Given the description of an element on the screen output the (x, y) to click on. 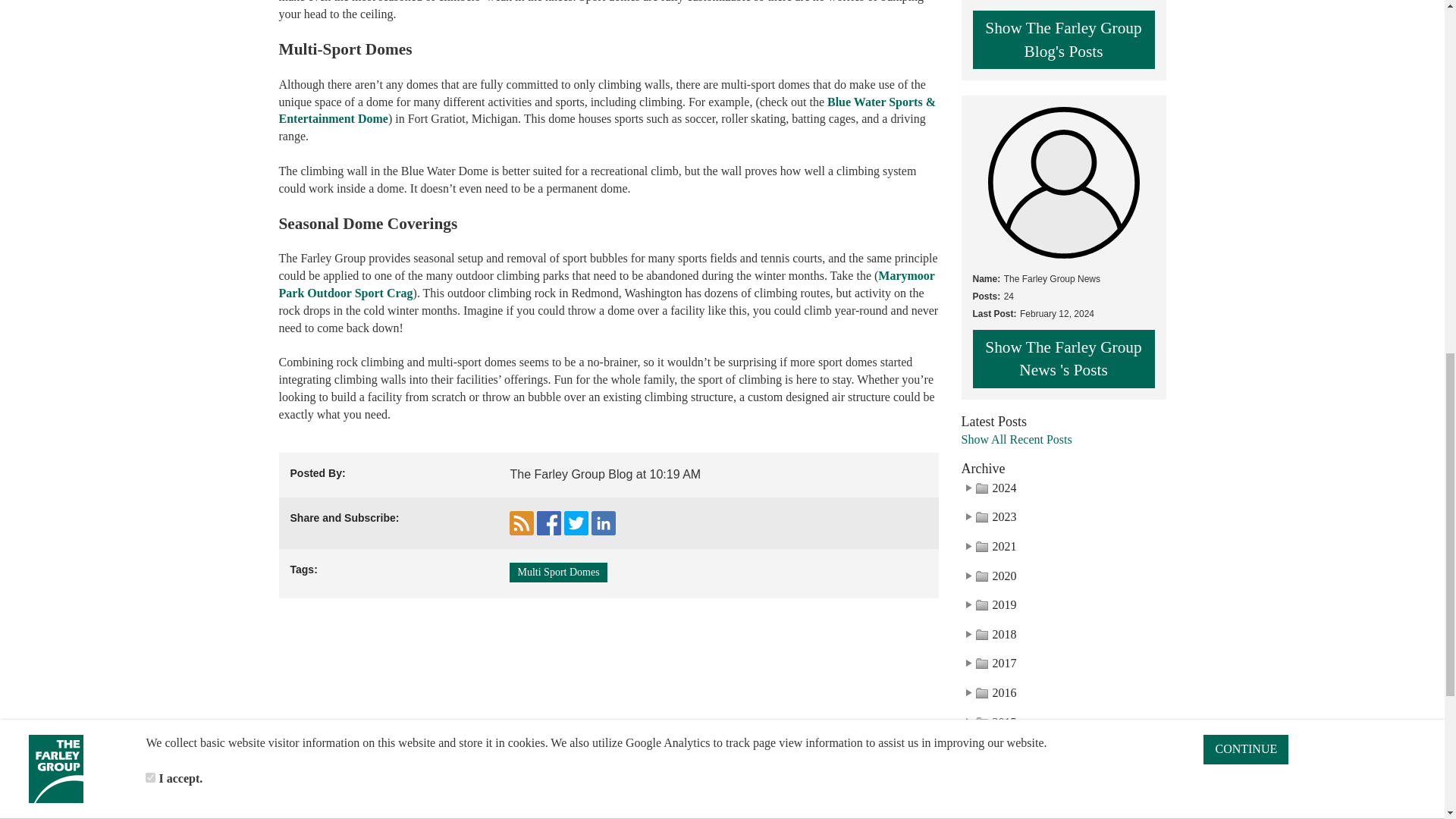
Tweet this! (576, 523)
Marymoor Park Outdoor Sport Crag (606, 284)
Multi Sport Domes (558, 572)
Show The Farley Group News 's Posts (1063, 359)
Like on Facebook (548, 523)
Show The Farley Group Blog's Posts (1063, 39)
Share on LinkedIn (603, 523)
Show All Recent Posts (1063, 439)
